Given the description of an element on the screen output the (x, y) to click on. 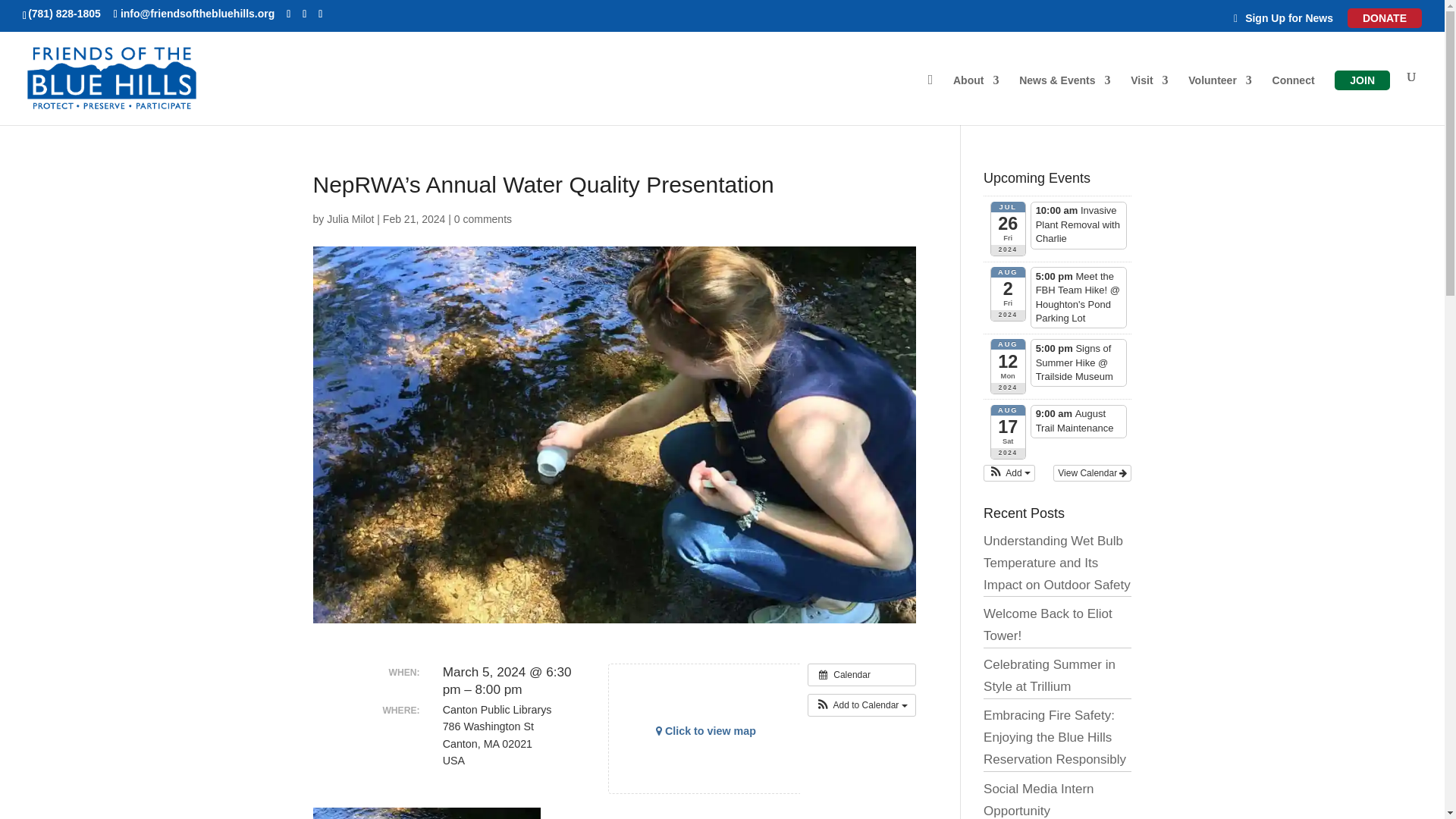
Posts by Julia Milot (350, 218)
DONATE (1385, 17)
View all events (861, 674)
JOIN (1362, 80)
Sign Up for News (1287, 21)
About (975, 100)
Volunteer (1220, 100)
